Given the description of an element on the screen output the (x, y) to click on. 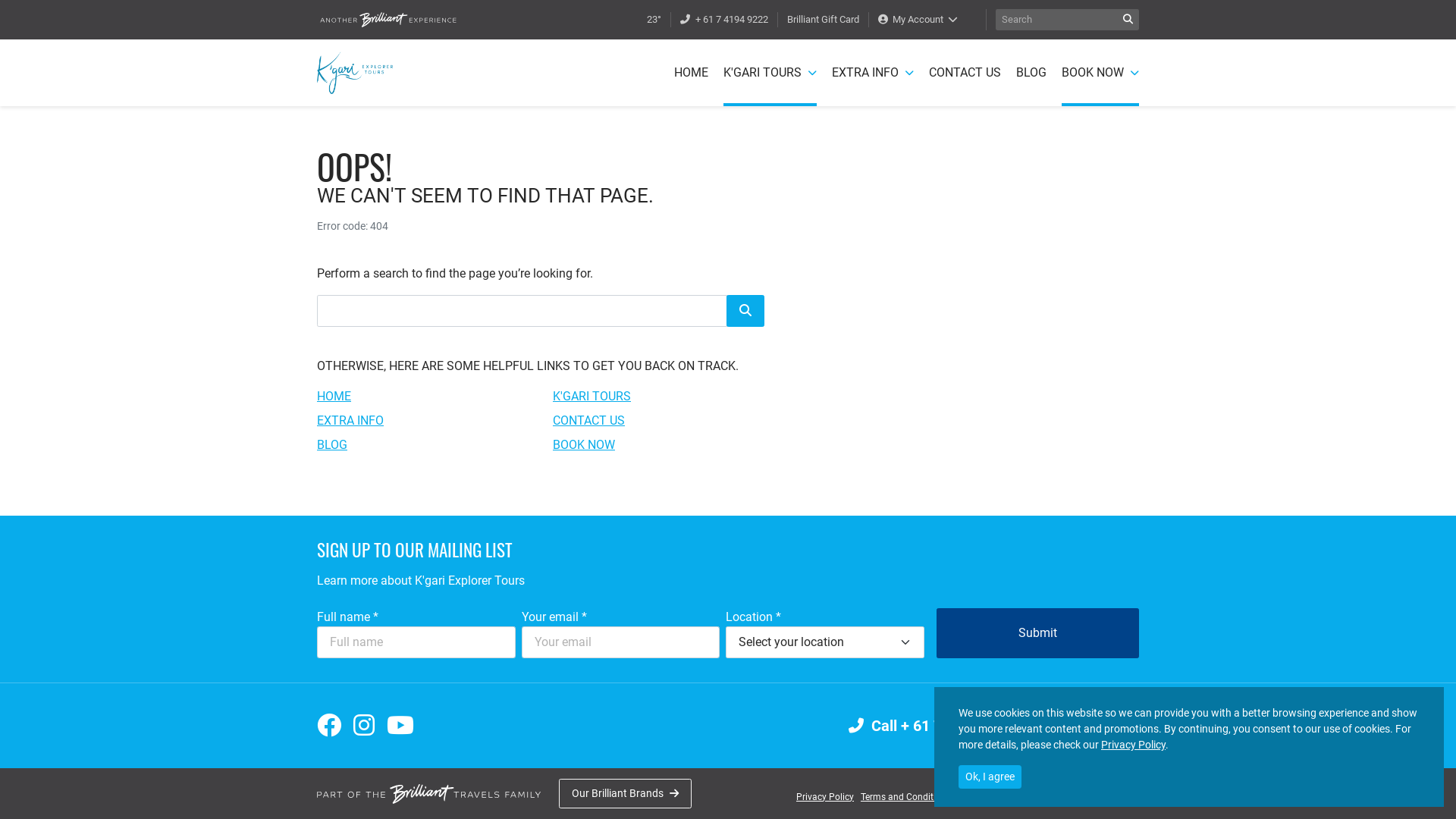
Visit Brilliant Travels Element type: hover (387, 19)
Kelsian Group Limited Element type: text (1093, 796)
CONTACT US Element type: text (588, 420)
Privacy Policy Element type: text (824, 796)
Submit Element type: text (1037, 633)
Ok, I agree Element type: text (989, 776)
Our Brilliant Brands Element type: text (624, 793)
K'GARI TOURS Element type: text (591, 396)
Call + 61 7 4194 9222 Element type: text (931, 725)
Terms and Conditions Element type: text (905, 796)
Fraser Explorer Tours Element type: hover (354, 72)
My Account Element type: text (918, 19)
BOOK NOW Element type: text (583, 444)
Search Element type: text (745, 310)
BOOK NOW Element type: text (1100, 72)
HOME Element type: text (691, 72)
BLOG Element type: text (1031, 72)
Privacy Policy Element type: text (1133, 744)
K'GARI TOURS Element type: text (769, 72)
Instagram Element type: text (363, 725)
Brilliant Gift Card Element type: text (823, 19)
Contact us Element type: text (1090, 725)
Youtube Element type: text (400, 725)
BLOG Element type: text (331, 444)
CONTACT US Element type: text (964, 72)
HOME Element type: text (333, 396)
Facebook Element type: text (328, 725)
Part of the Brilliant Travels Family Element type: hover (428, 793)
+ 61 7 4194 9222 Element type: text (723, 19)
EXTRA INFO Element type: text (872, 72)
EXTRA INFO Element type: text (349, 420)
